Given the description of an element on the screen output the (x, y) to click on. 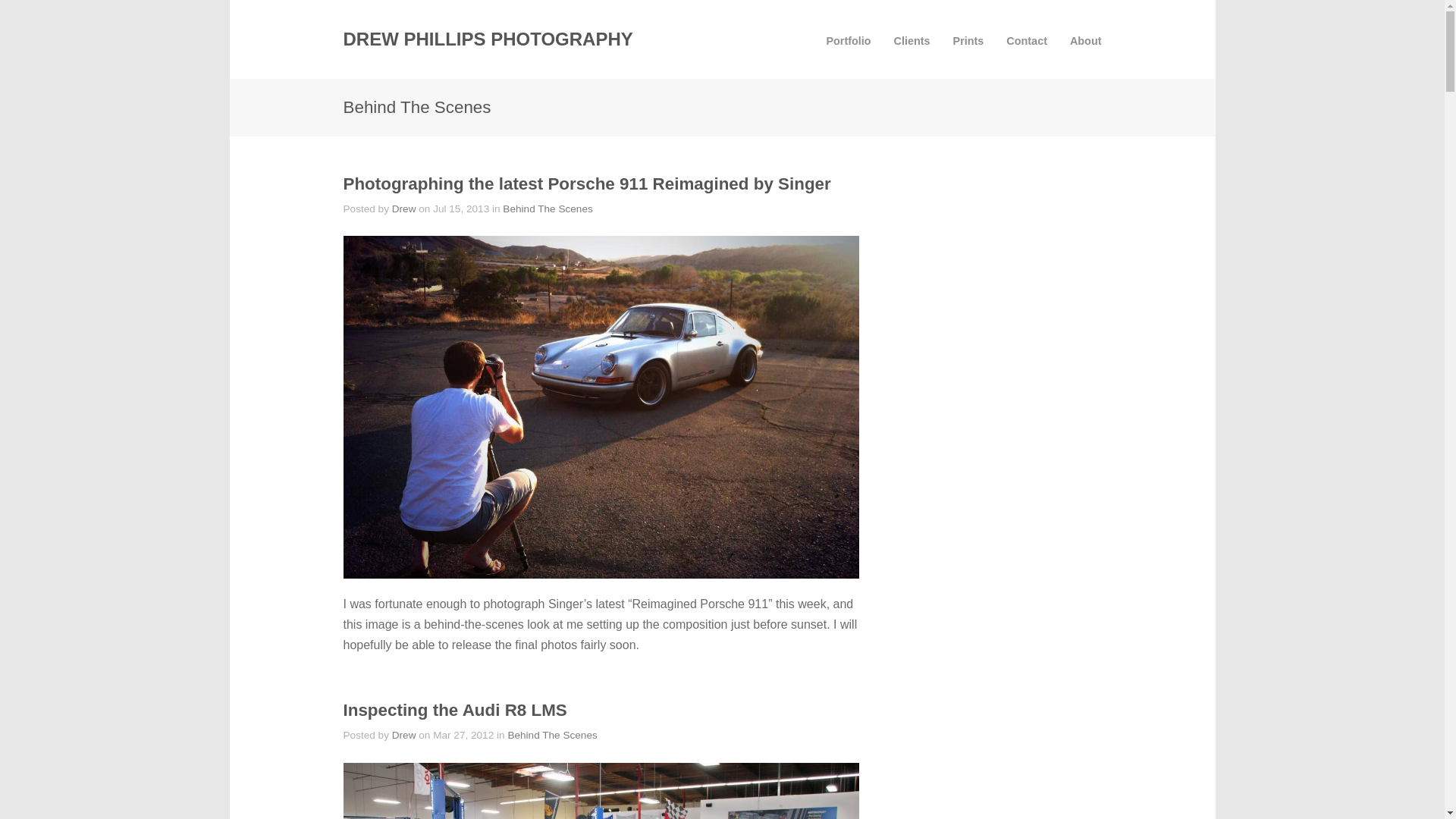
Posts by Drew (403, 208)
Behind The Scenes (547, 208)
Posts by Drew (403, 735)
Behind The Scenes (551, 735)
Prints (968, 40)
Clients (911, 40)
Drew (403, 735)
DREW PHILLIPS PHOTOGRAPHY (486, 38)
Photographing the latest Porsche 911 Reimagined by Singer (585, 183)
Contact (1026, 40)
